Given the description of an element on the screen output the (x, y) to click on. 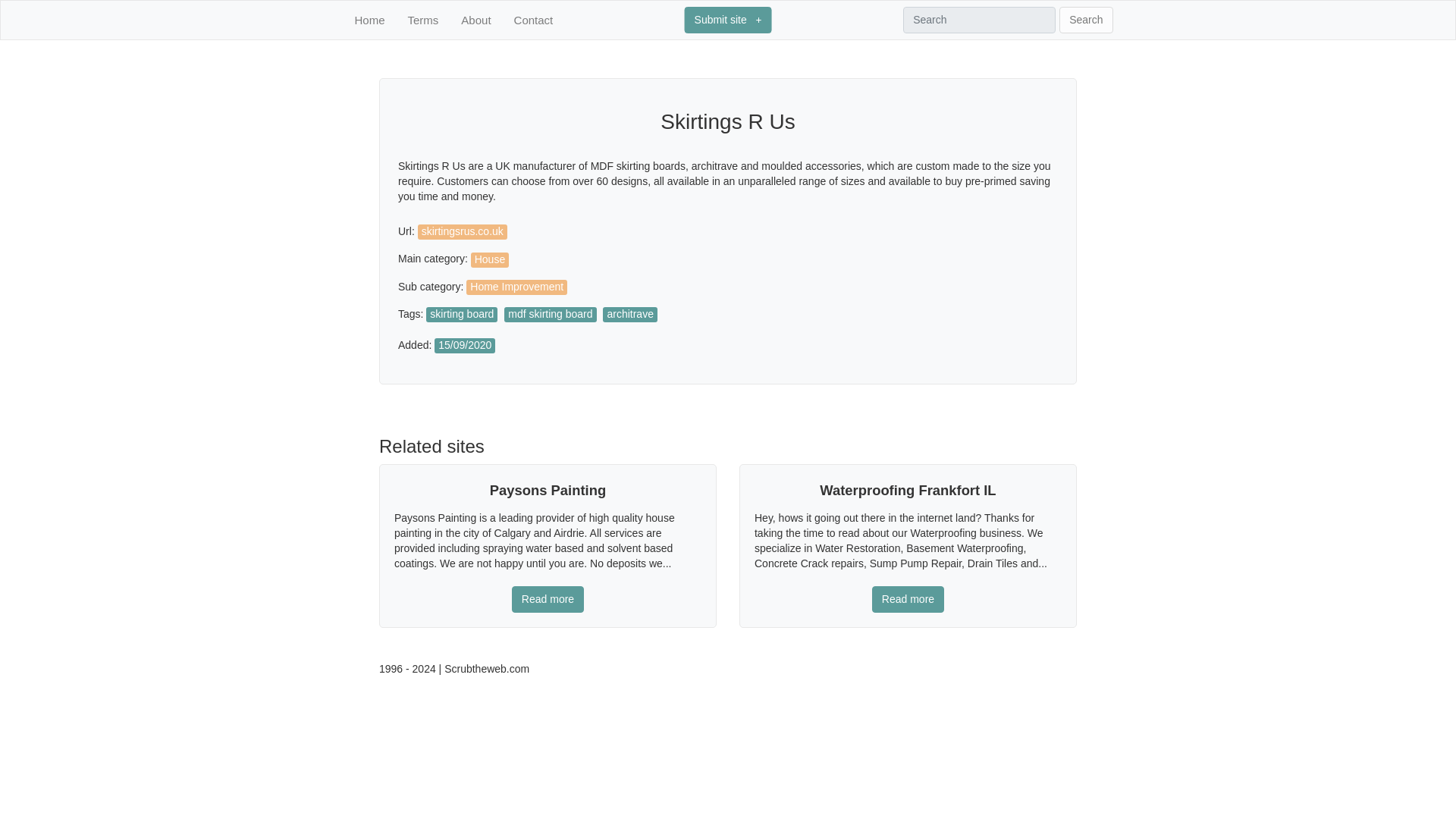
House (491, 258)
Home (370, 19)
Home Improvement (517, 286)
Contact (533, 19)
Terms (423, 19)
Read more (907, 599)
Submit site   (727, 19)
skirtingsrus.co.uk (464, 231)
About (475, 19)
Search (1085, 19)
Read more (547, 599)
